Given the description of an element on the screen output the (x, y) to click on. 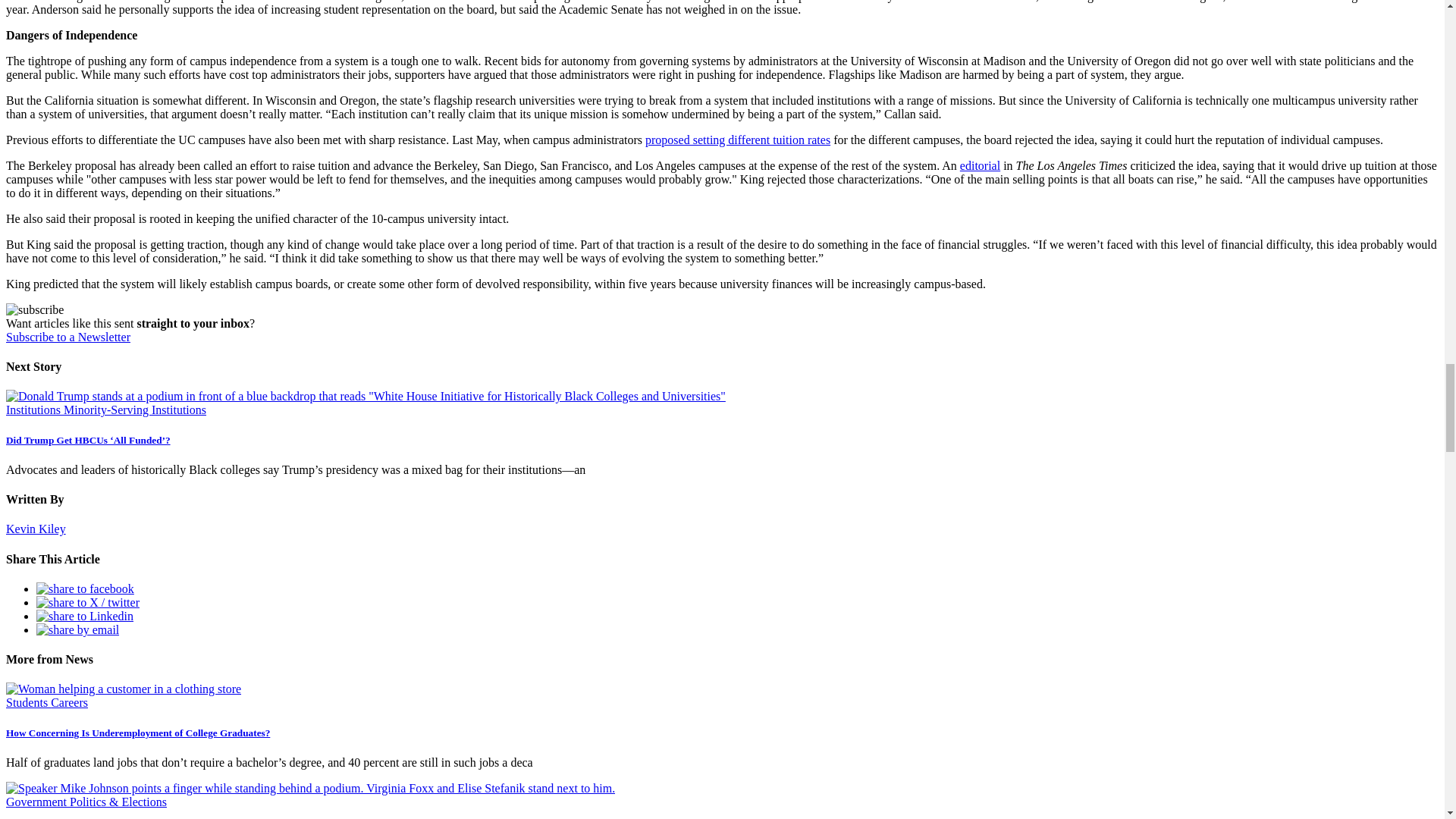
share to facebook (84, 588)
